Given the description of an element on the screen output the (x, y) to click on. 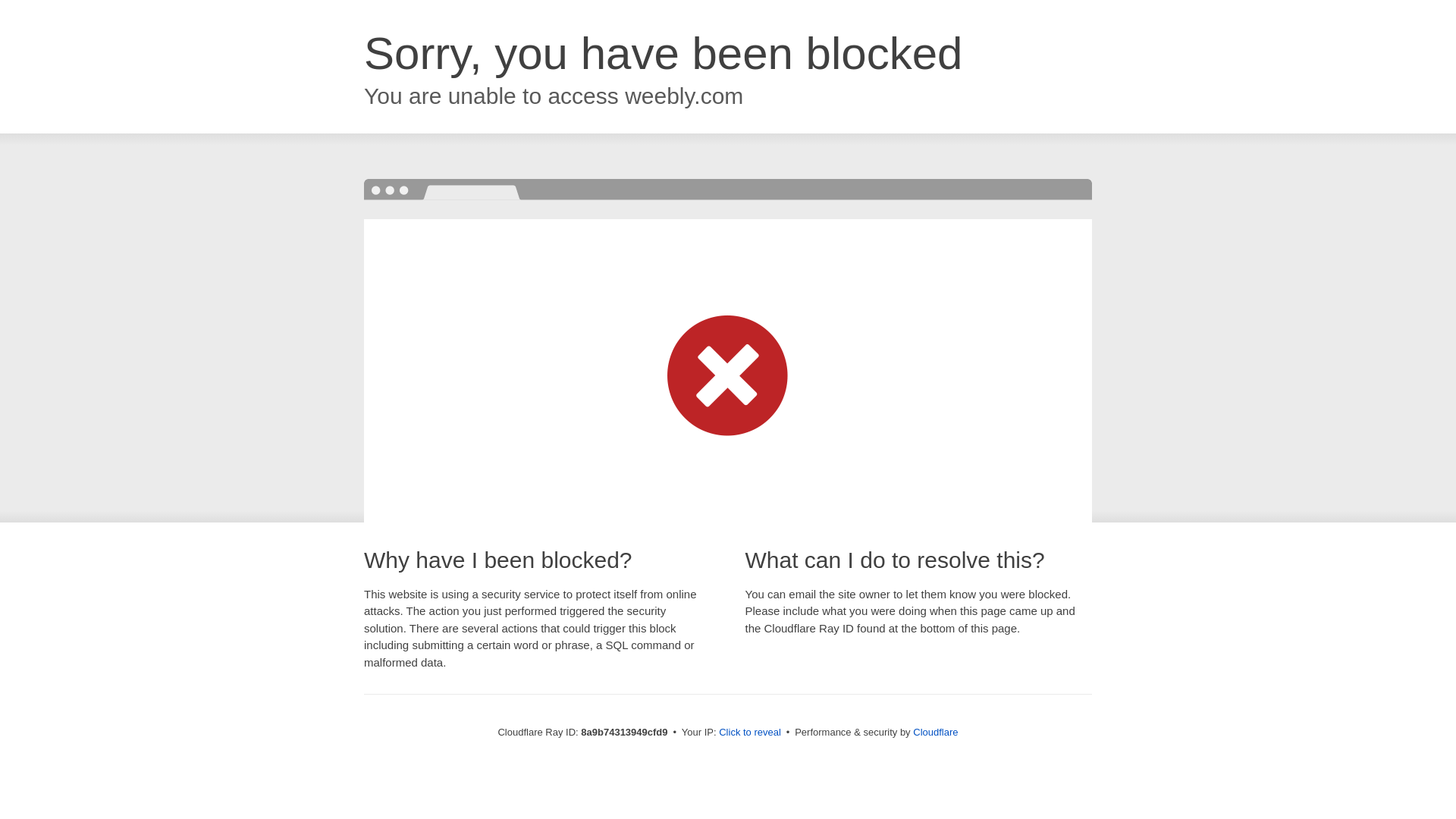
Click to reveal (749, 732)
Cloudflare (935, 731)
